Given the description of an element on the screen output the (x, y) to click on. 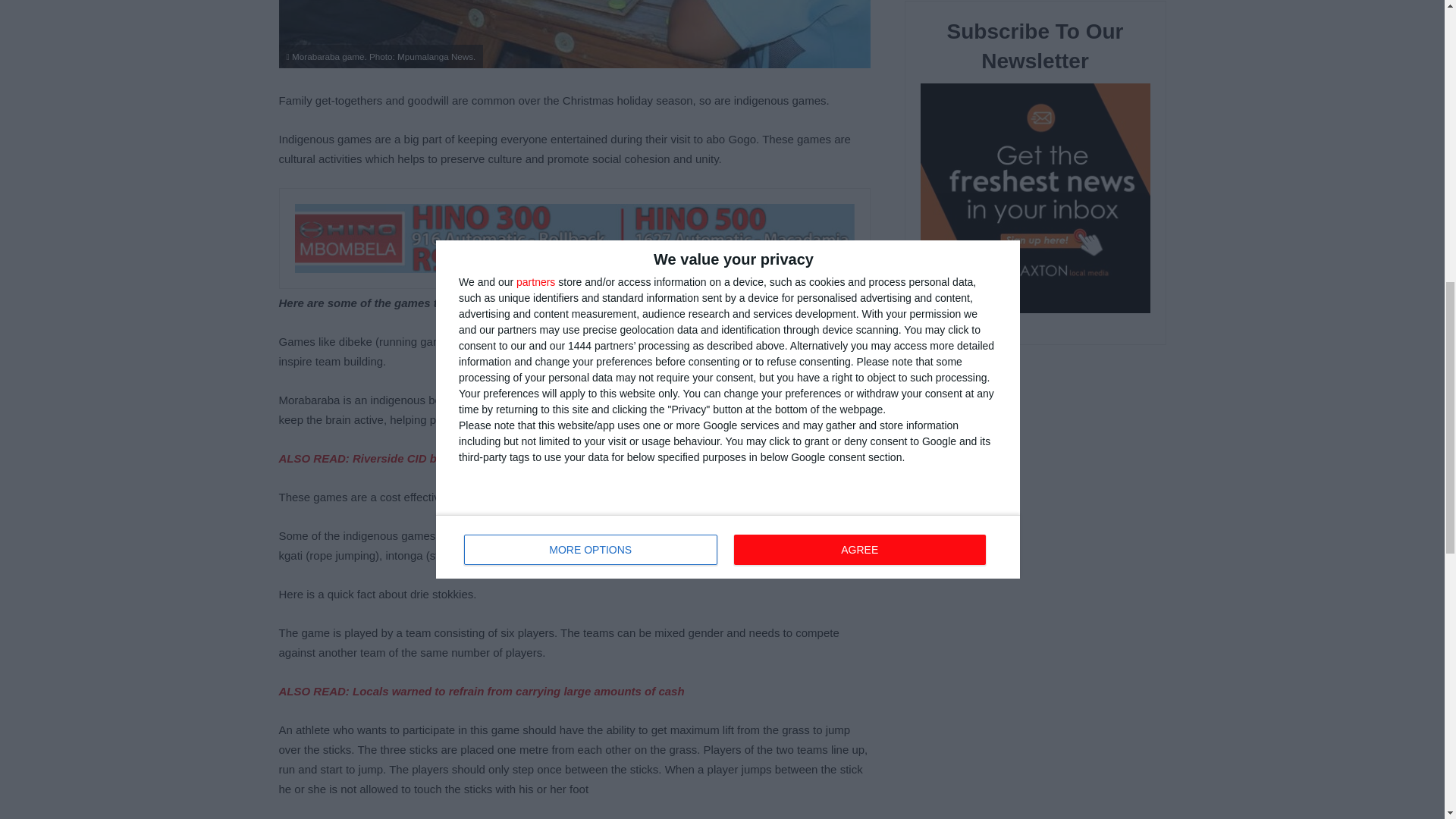
Subscribe To Our Newsletter (1035, 200)
